Given the description of an element on the screen output the (x, y) to click on. 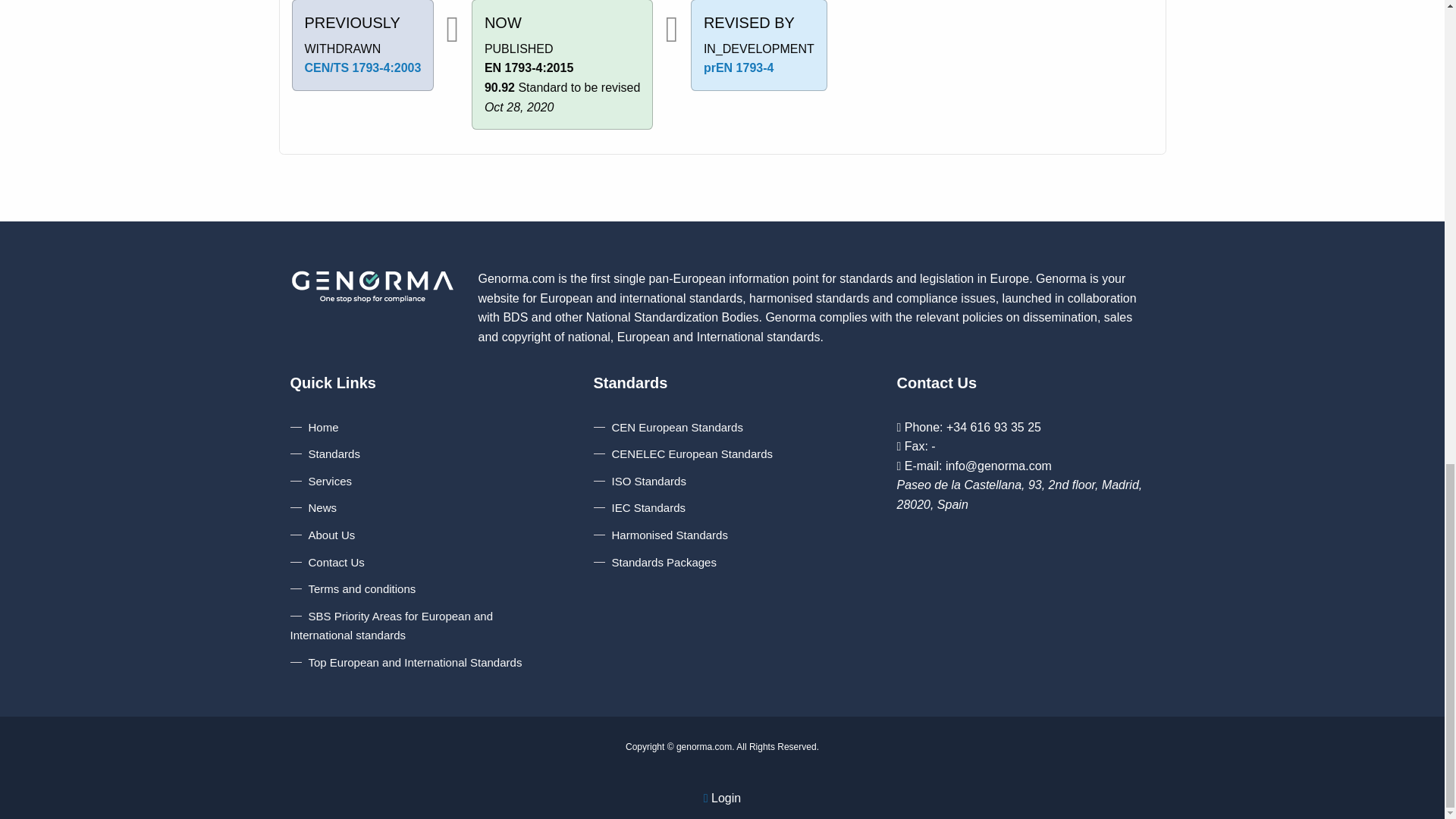
Standards (324, 453)
prEN 1793-4 (738, 67)
Home (314, 427)
Services (320, 481)
